Given the description of an element on the screen output the (x, y) to click on. 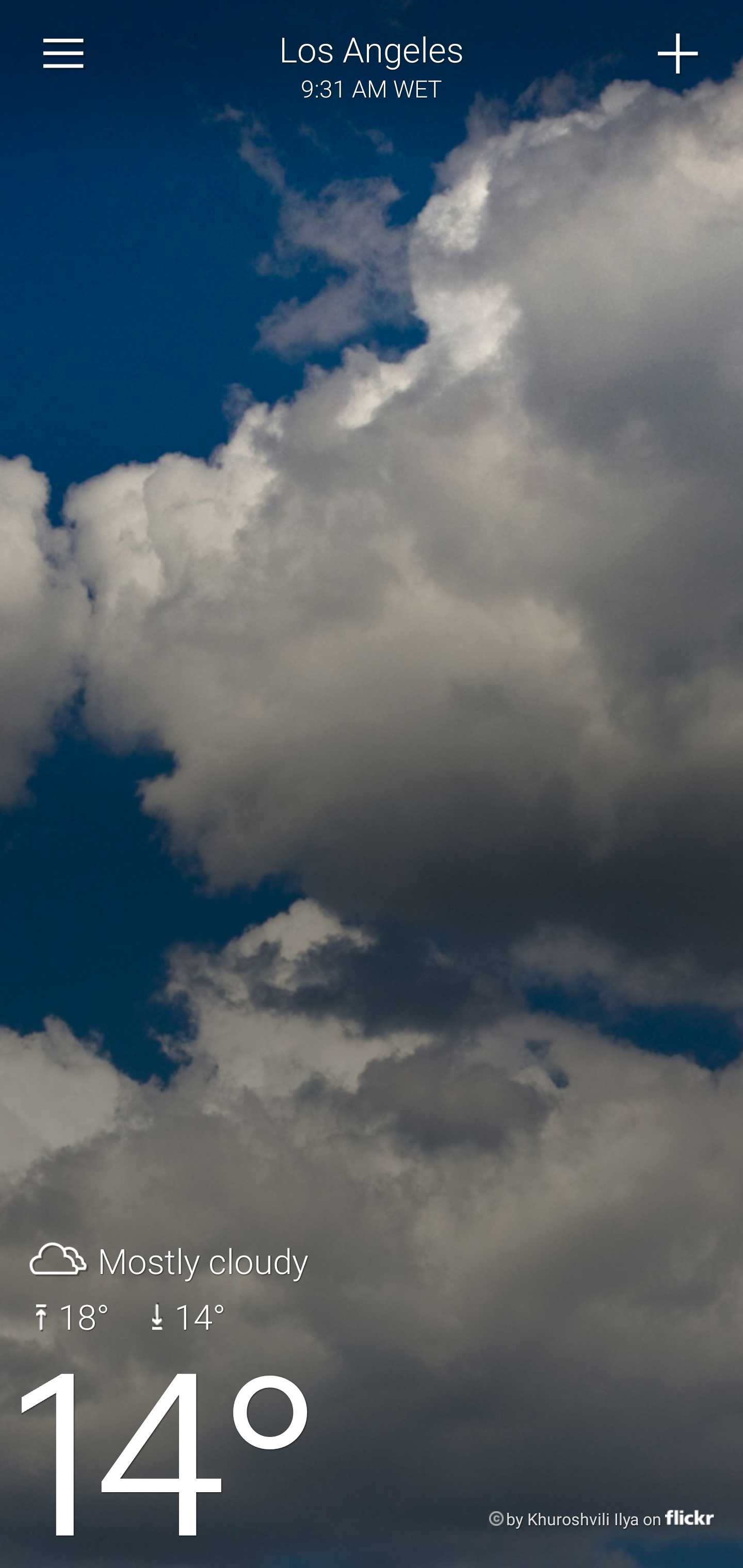
Sidebar (64, 54)
Add City (678, 53)
